Given the description of an element on the screen output the (x, y) to click on. 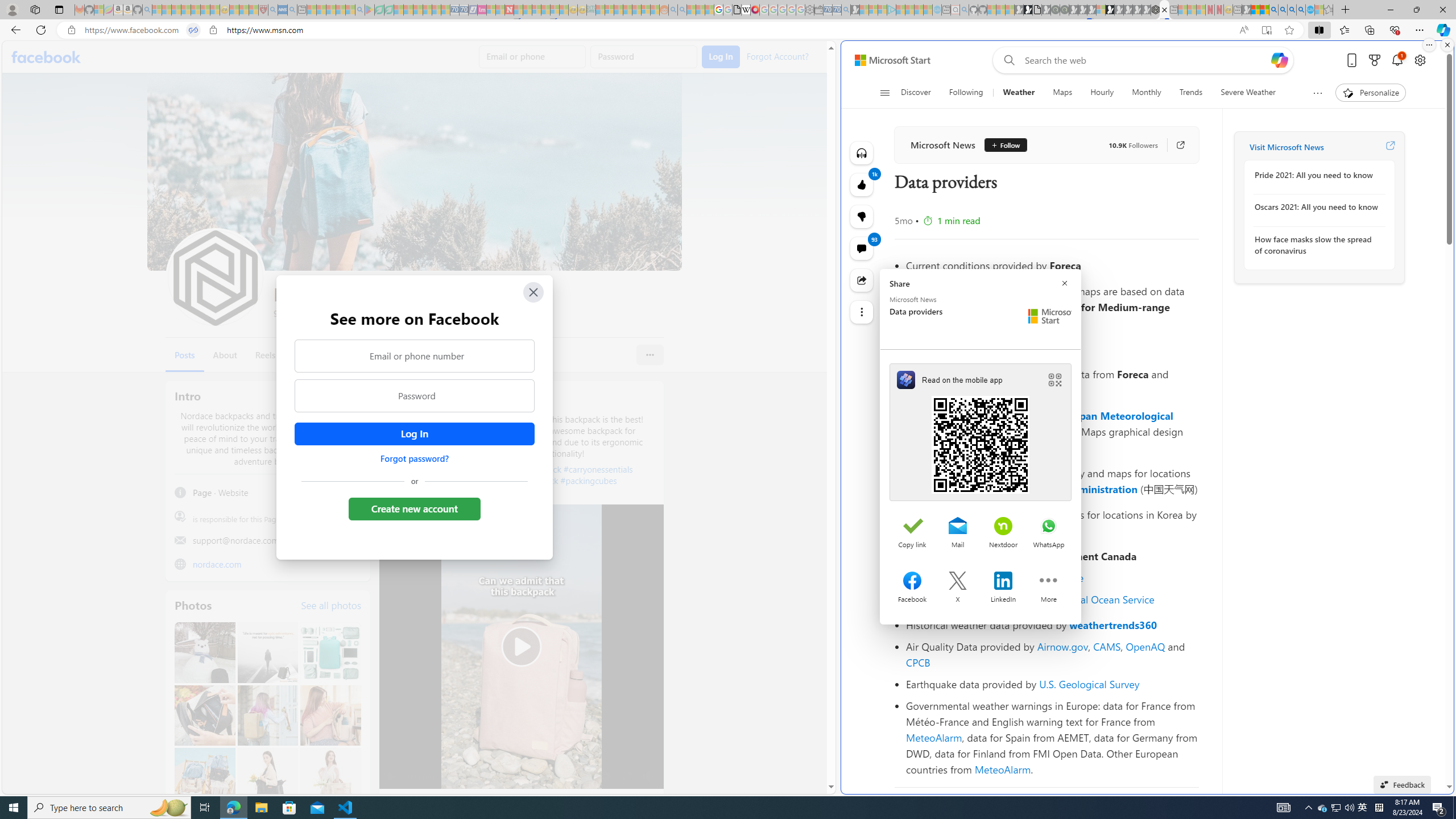
Microsoft News (942, 144)
Trends (1190, 92)
View comments 93 Comment (861, 248)
Share on Nextdoor (1002, 526)
Nordace - Cooler Bags (1154, 9)
